Given the description of an element on the screen output the (x, y) to click on. 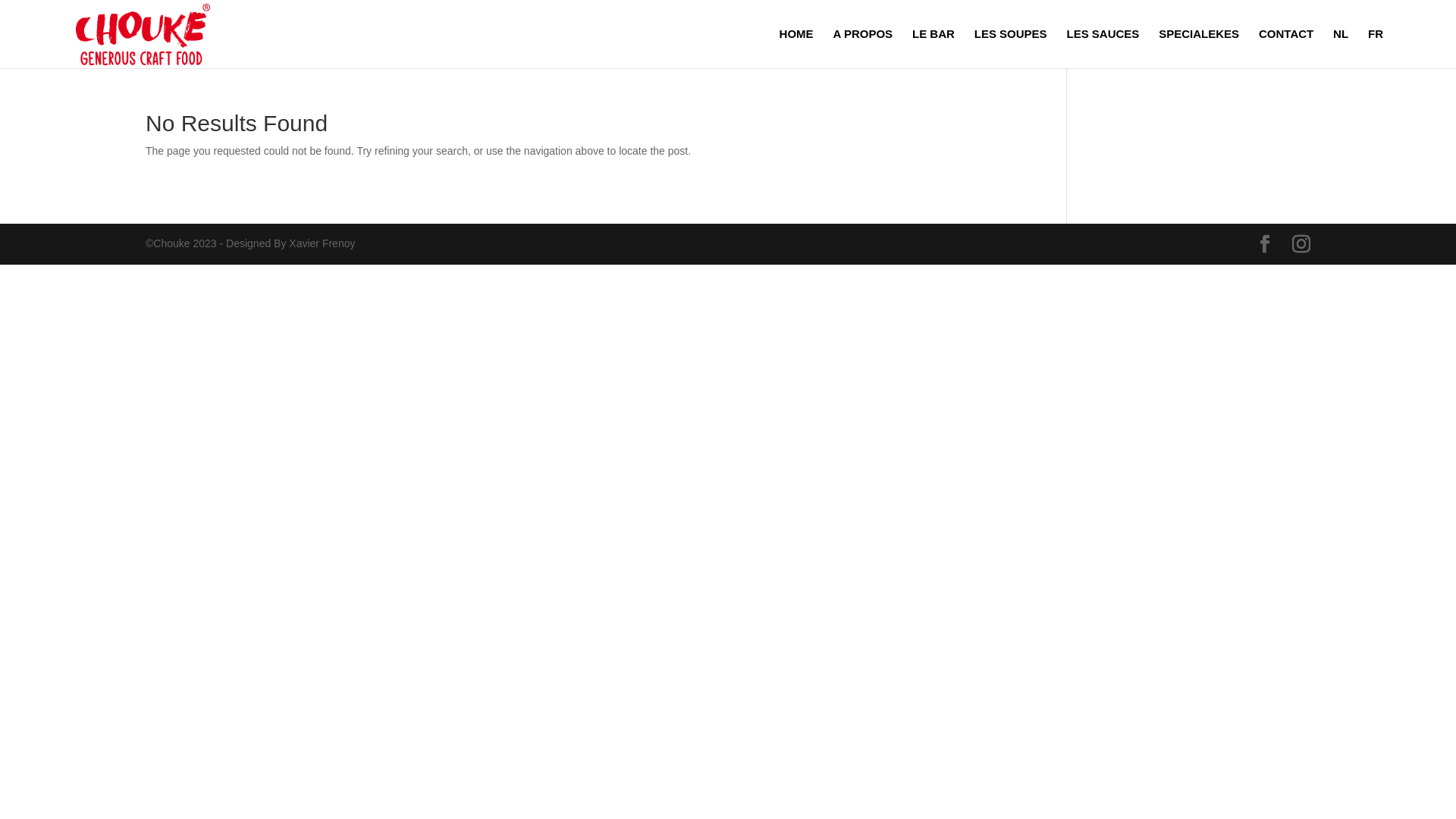
LES SOUPES Element type: text (1010, 48)
A PROPOS Element type: text (862, 48)
NL Element type: text (1340, 48)
CONTACT Element type: text (1285, 48)
LE BAR Element type: text (933, 48)
SPECIALEKES Element type: text (1198, 48)
FR Element type: text (1375, 48)
HOME Element type: text (796, 48)
LES SAUCES Element type: text (1102, 48)
